Given the description of an element on the screen output the (x, y) to click on. 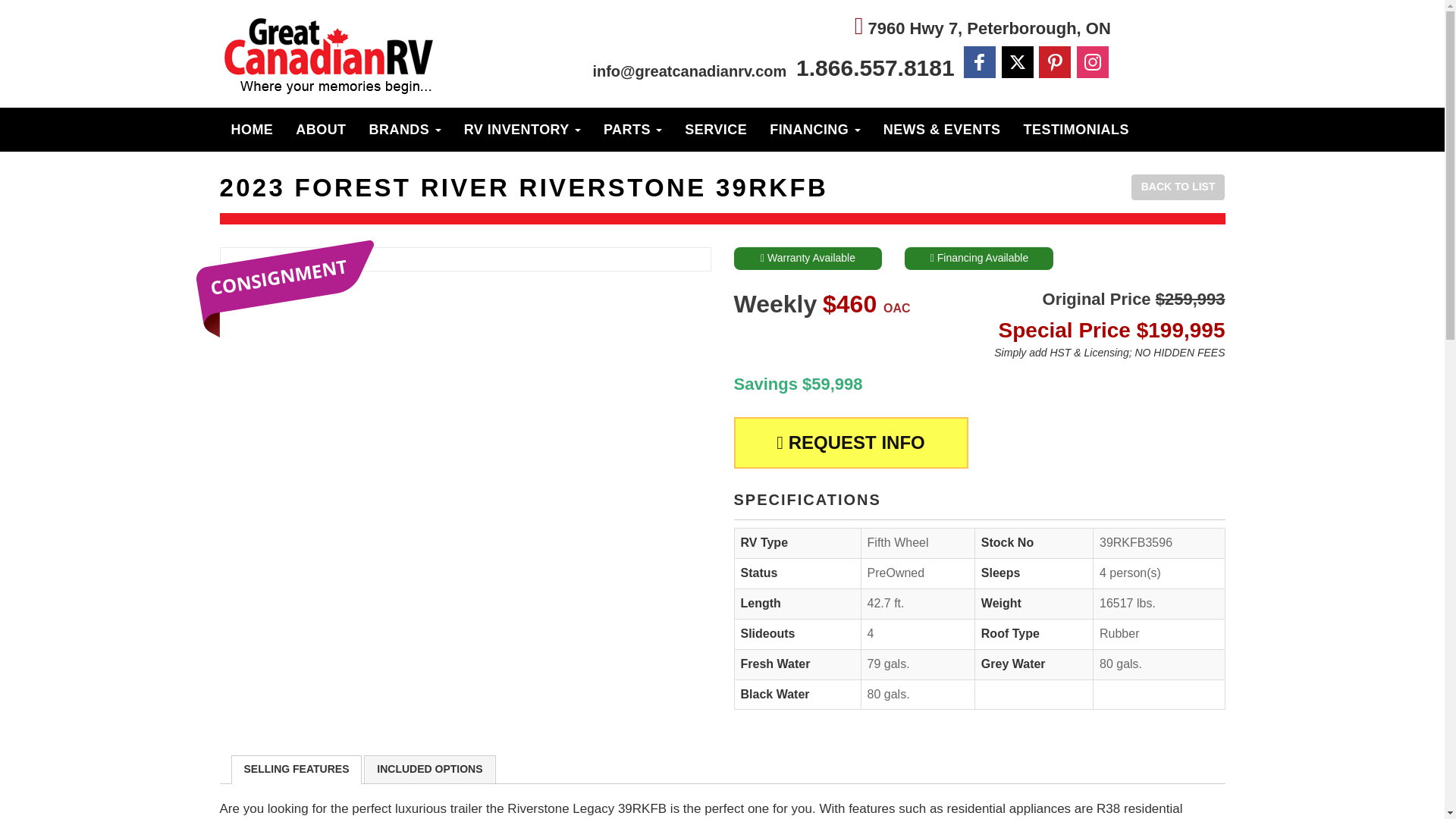
Follow on X (1017, 61)
Follow on Pinterest (1054, 61)
About (319, 129)
Home (252, 129)
ABOUT (319, 129)
Follow on X (1017, 61)
Follow on Pinterest (1054, 61)
RV Inventory (522, 129)
BRANDS (405, 129)
Follow on Facebook (979, 61)
